Given the description of an element on the screen output the (x, y) to click on. 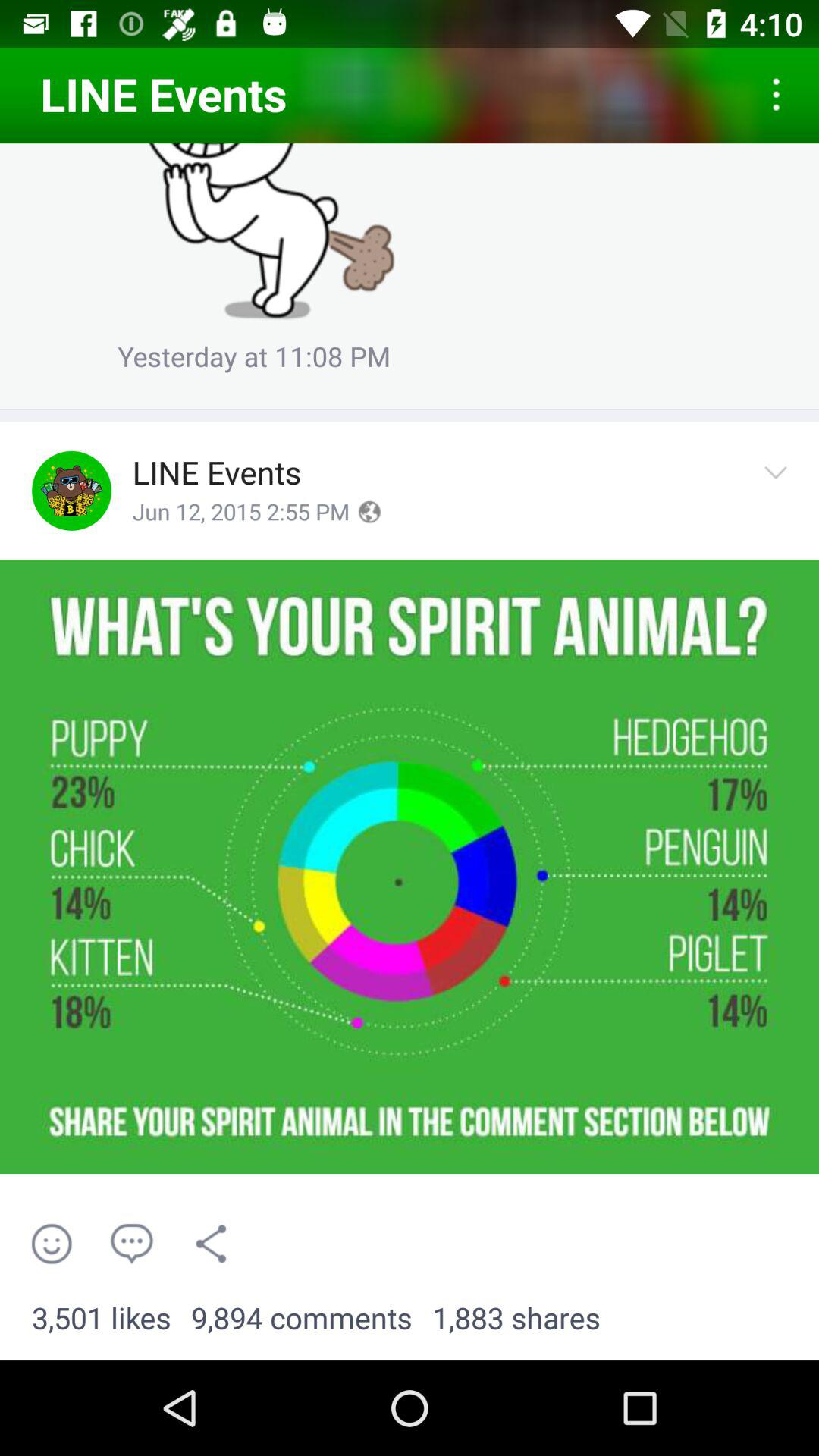
turn on 9,894 comments app (301, 1318)
